Given the description of an element on the screen output the (x, y) to click on. 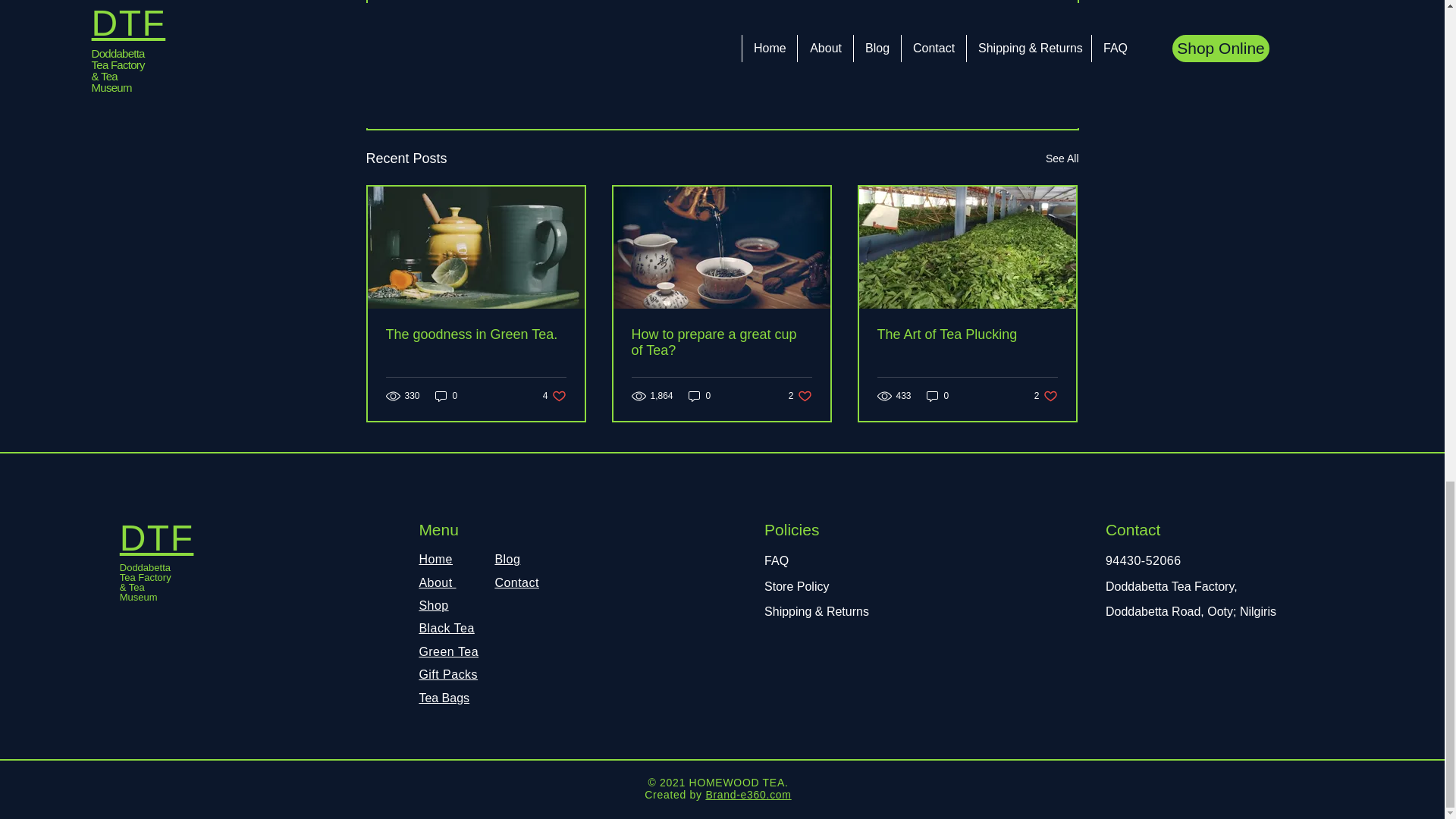
Shop (433, 604)
0 (937, 396)
The goodness in Green Tea. (475, 334)
The Art of Tea Plucking (990, 74)
How to prepare a great cup of Tea? (966, 334)
See All (720, 342)
DTF (1061, 158)
0 (156, 537)
0 (446, 396)
Home (700, 396)
About  (554, 396)
